Given the description of an element on the screen output the (x, y) to click on. 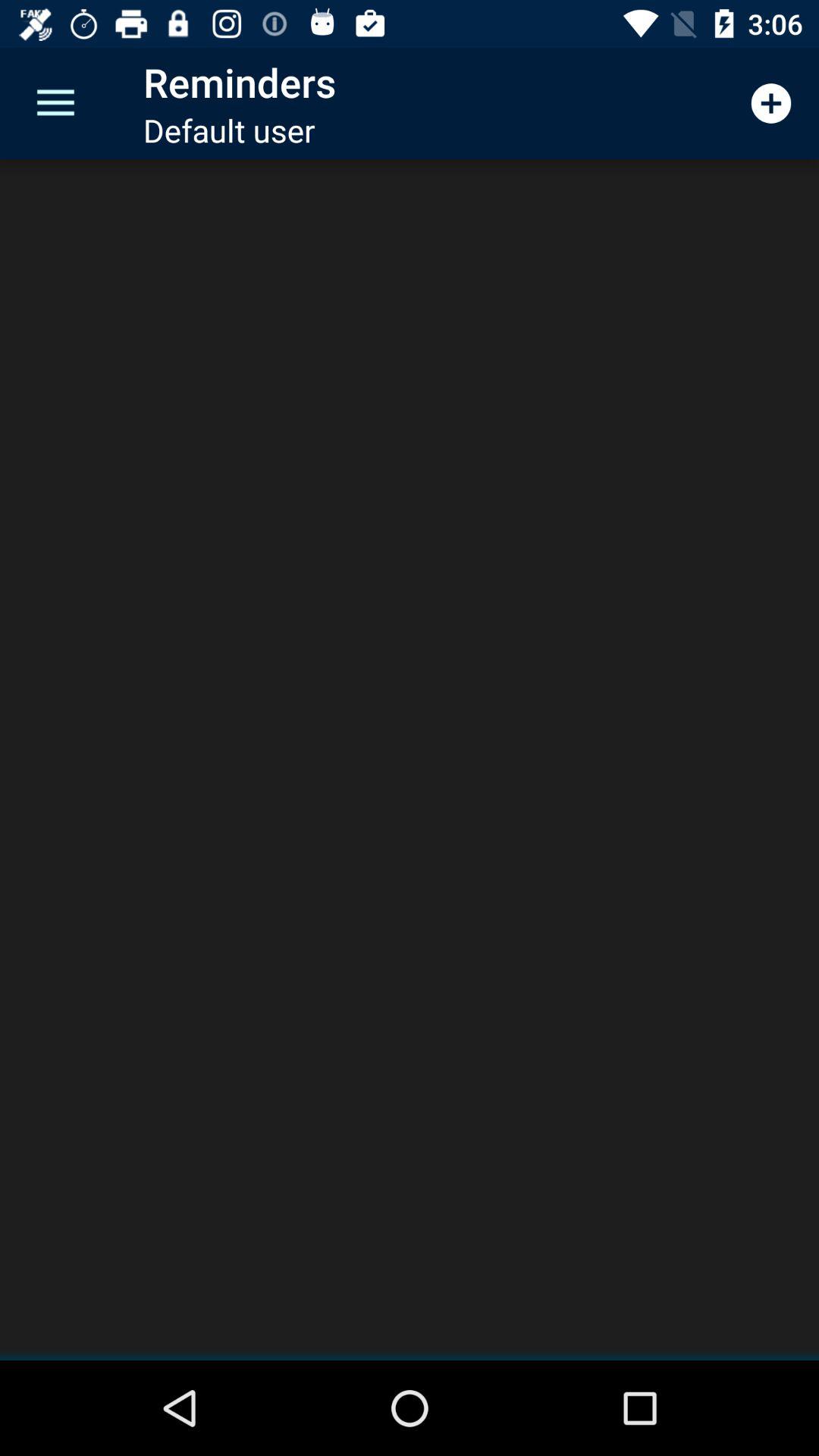
launch item next to reminders item (55, 103)
